Given the description of an element on the screen output the (x, y) to click on. 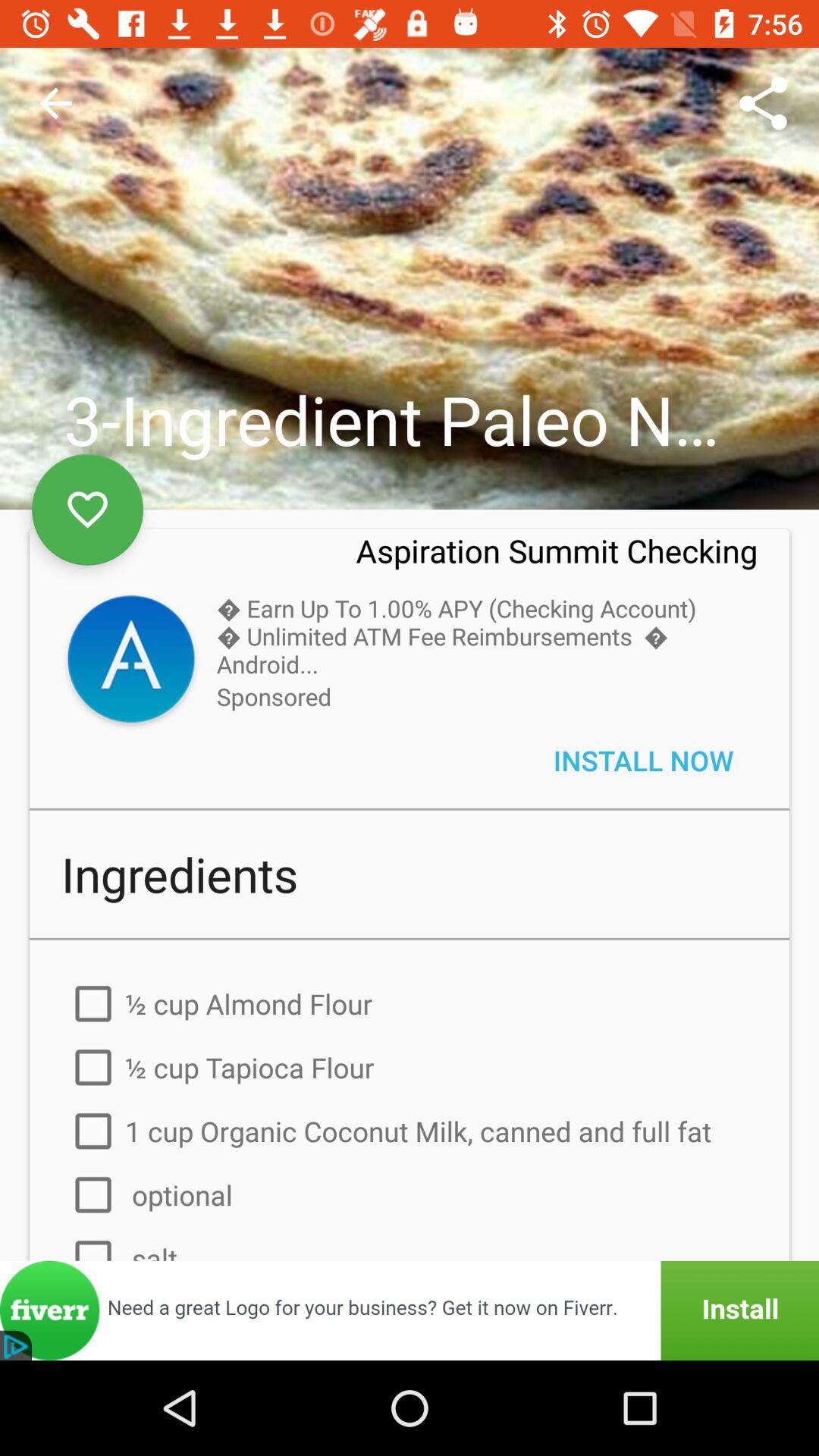
select the checking button (130, 661)
